Given the description of an element on the screen output the (x, y) to click on. 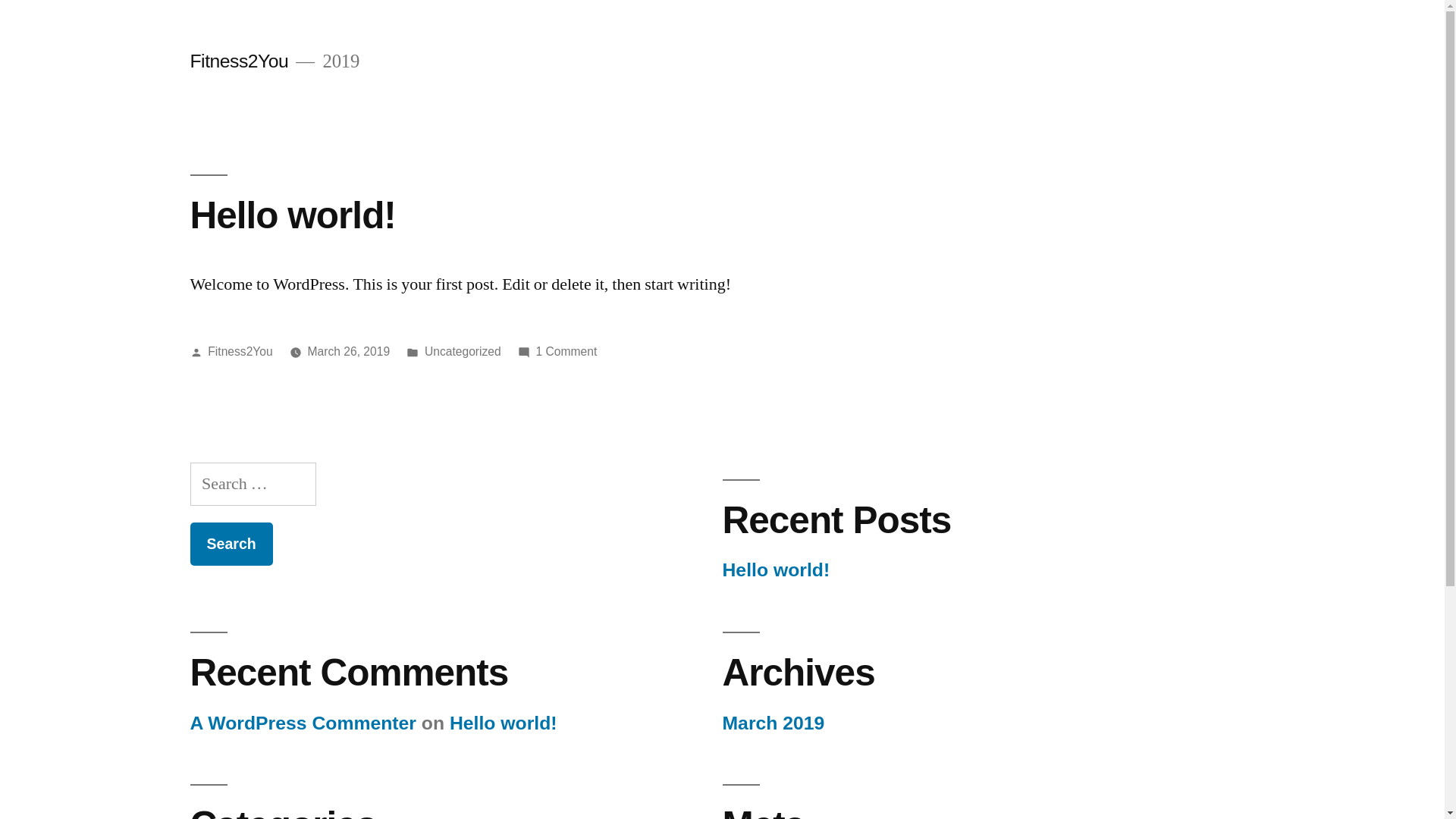
Fitness2You Element type: text (238, 60)
1 Comment
on Hello world! Element type: text (566, 351)
Hello world! Element type: text (503, 722)
Search Element type: text (230, 543)
Uncategorized Element type: text (462, 351)
Hello world! Element type: text (775, 569)
Hello world! Element type: text (292, 214)
March 2019 Element type: text (772, 722)
March 26, 2019 Element type: text (348, 351)
A WordPress Commenter Element type: text (302, 722)
Fitness2You Element type: text (239, 351)
